Given the description of an element on the screen output the (x, y) to click on. 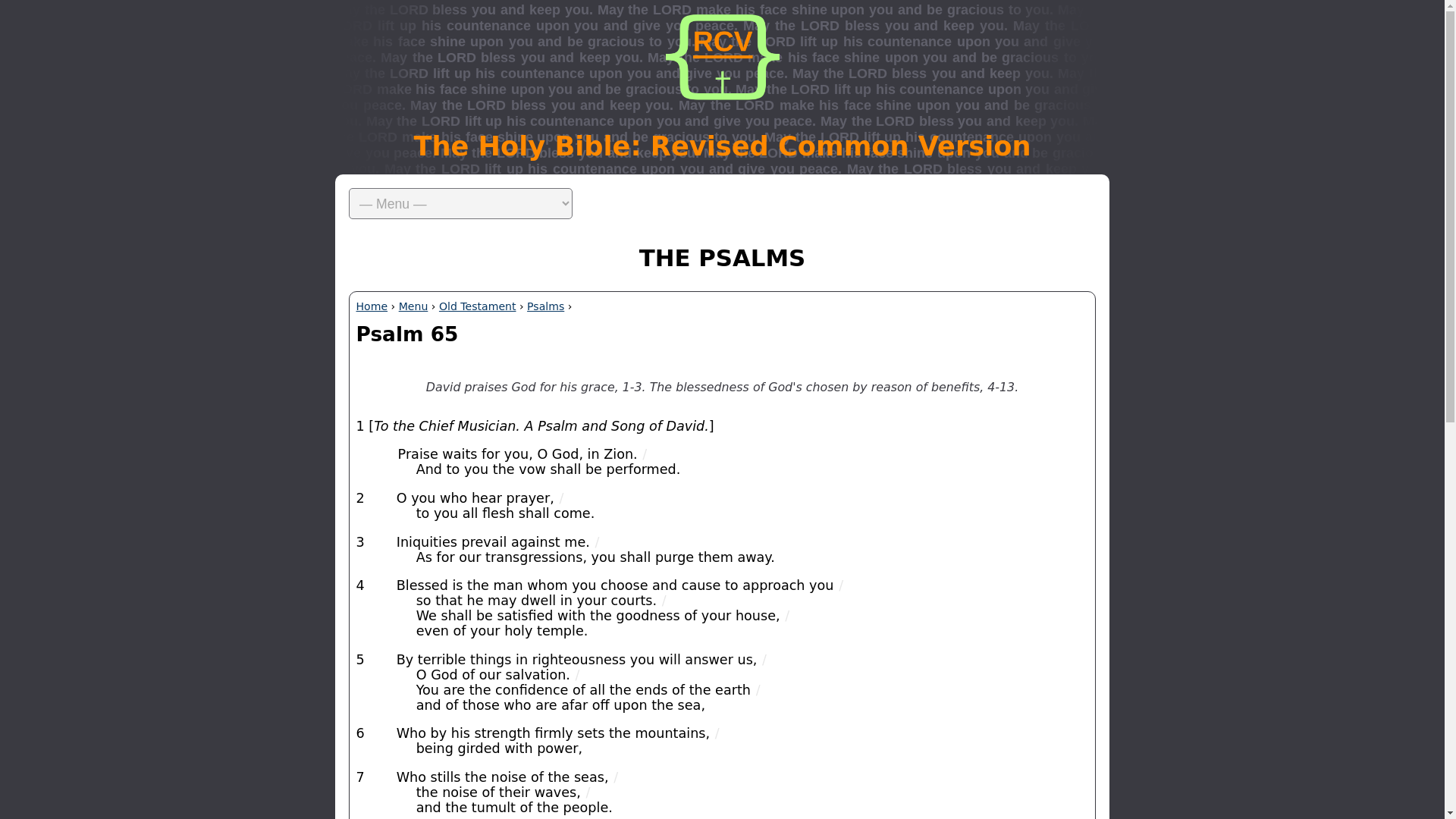
Old Testament (477, 306)
Choose a menu option to navigate the RCV website. (722, 204)
Psalms (545, 306)
Home (372, 306)
Menu (413, 306)
